Given the description of an element on the screen output the (x, y) to click on. 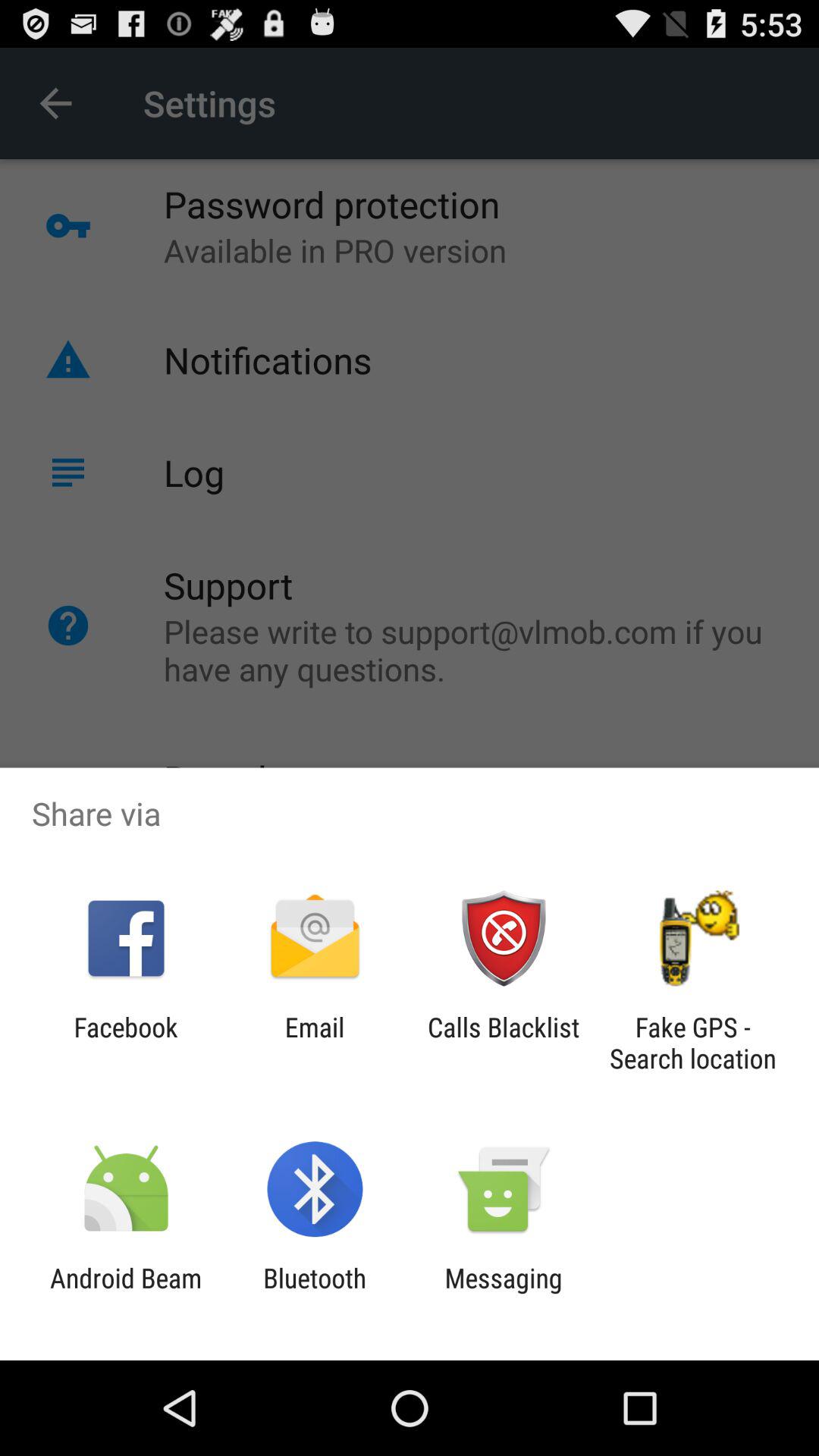
launch the item next to the messaging app (314, 1293)
